Given the description of an element on the screen output the (x, y) to click on. 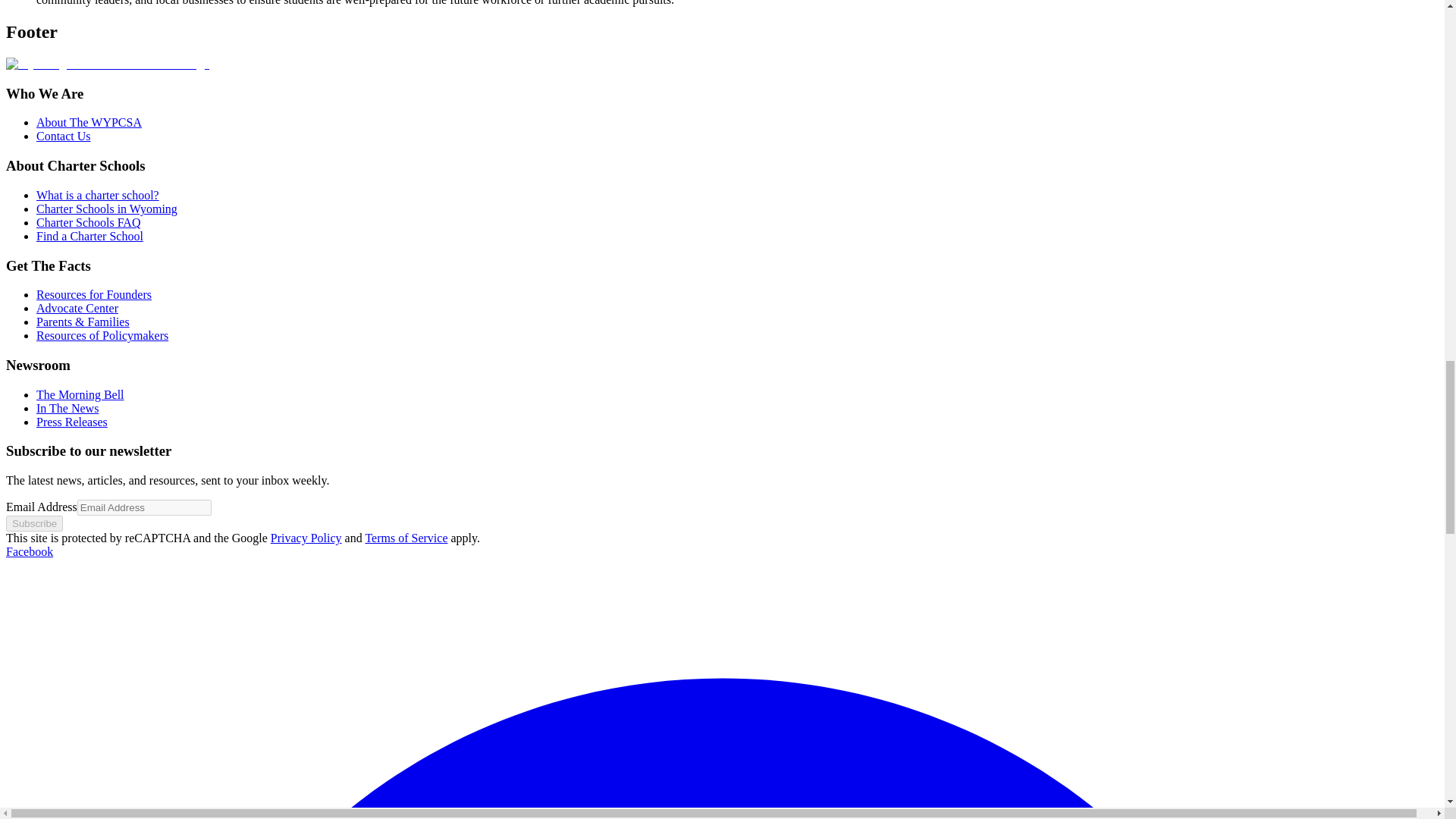
Press Releases (71, 421)
Charter Schools in Wyoming (106, 208)
Contact Us (63, 135)
Find a Charter School (89, 236)
In The News (67, 408)
Advocate Center (76, 308)
What is a charter school? (97, 195)
Subscribe (33, 523)
Privacy Policy (306, 537)
Terms of Service (405, 537)
About The WYPCSA (88, 122)
Resources of Policymakers (102, 335)
Resources for Founders (93, 294)
The Morning Bell (79, 394)
